Given the description of an element on the screen output the (x, y) to click on. 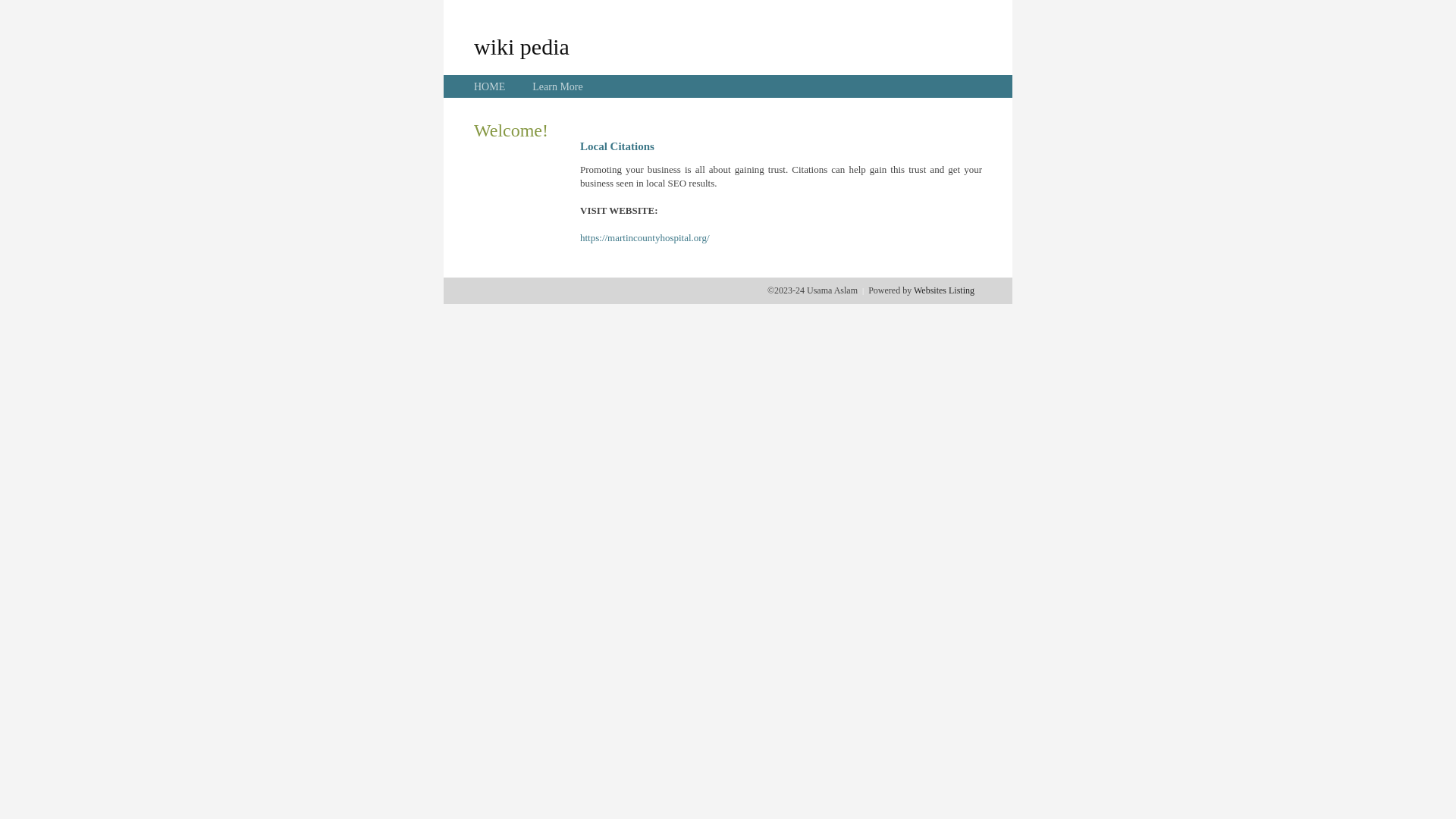
Websites Listing Element type: text (943, 290)
HOME Element type: text (489, 86)
Learn More Element type: text (557, 86)
wiki pedia Element type: text (521, 46)
https://martincountyhospital.org/ Element type: text (644, 237)
